Given the description of an element on the screen output the (x, y) to click on. 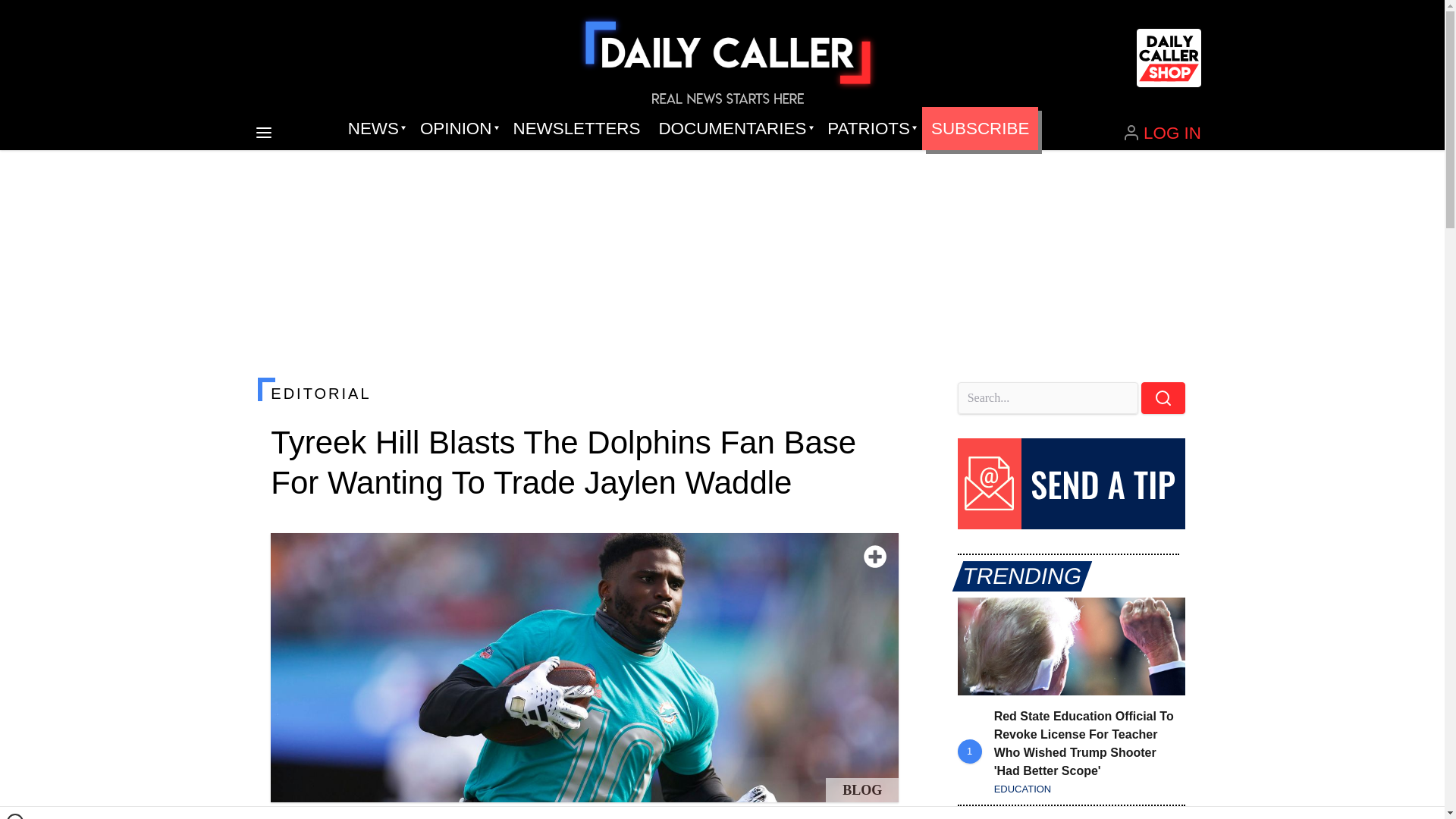
NEWSLETTERS (576, 128)
NEWS (374, 128)
Toggle fullscreen (874, 556)
SUBSCRIBE (979, 128)
Close window (14, 816)
EDITORIAL (584, 393)
OPINION (456, 128)
PATRIOTS (869, 128)
DOCUMENTARIES (733, 128)
